Given the description of an element on the screen output the (x, y) to click on. 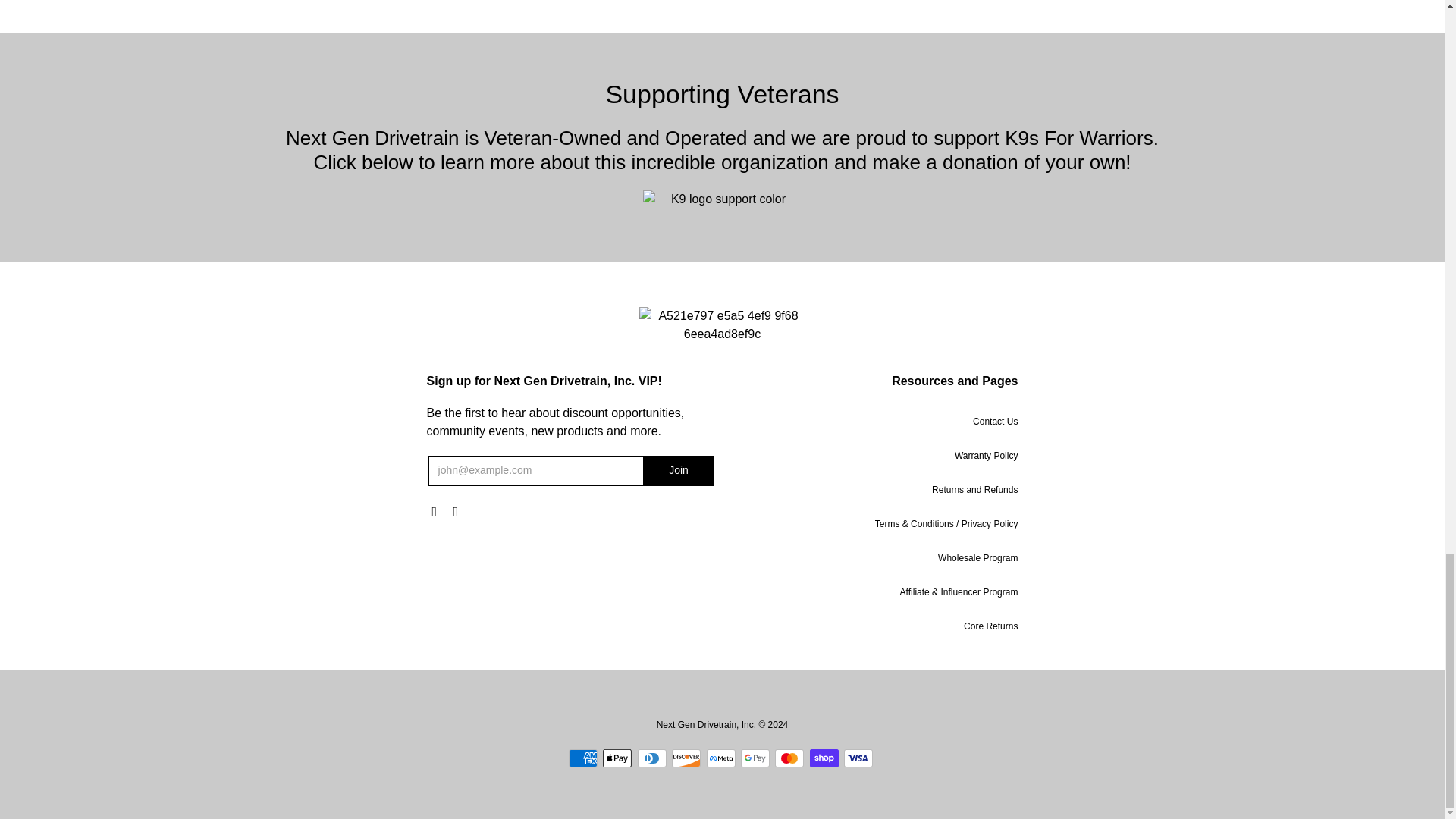
Shop Pay (823, 758)
Join (678, 470)
Mastercard (788, 758)
Visa (858, 758)
Diners Club (651, 758)
Apple Pay (616, 758)
American Express (582, 758)
Google Pay (755, 758)
Meta Pay (720, 758)
Discover (685, 758)
